Given the description of an element on the screen output the (x, y) to click on. 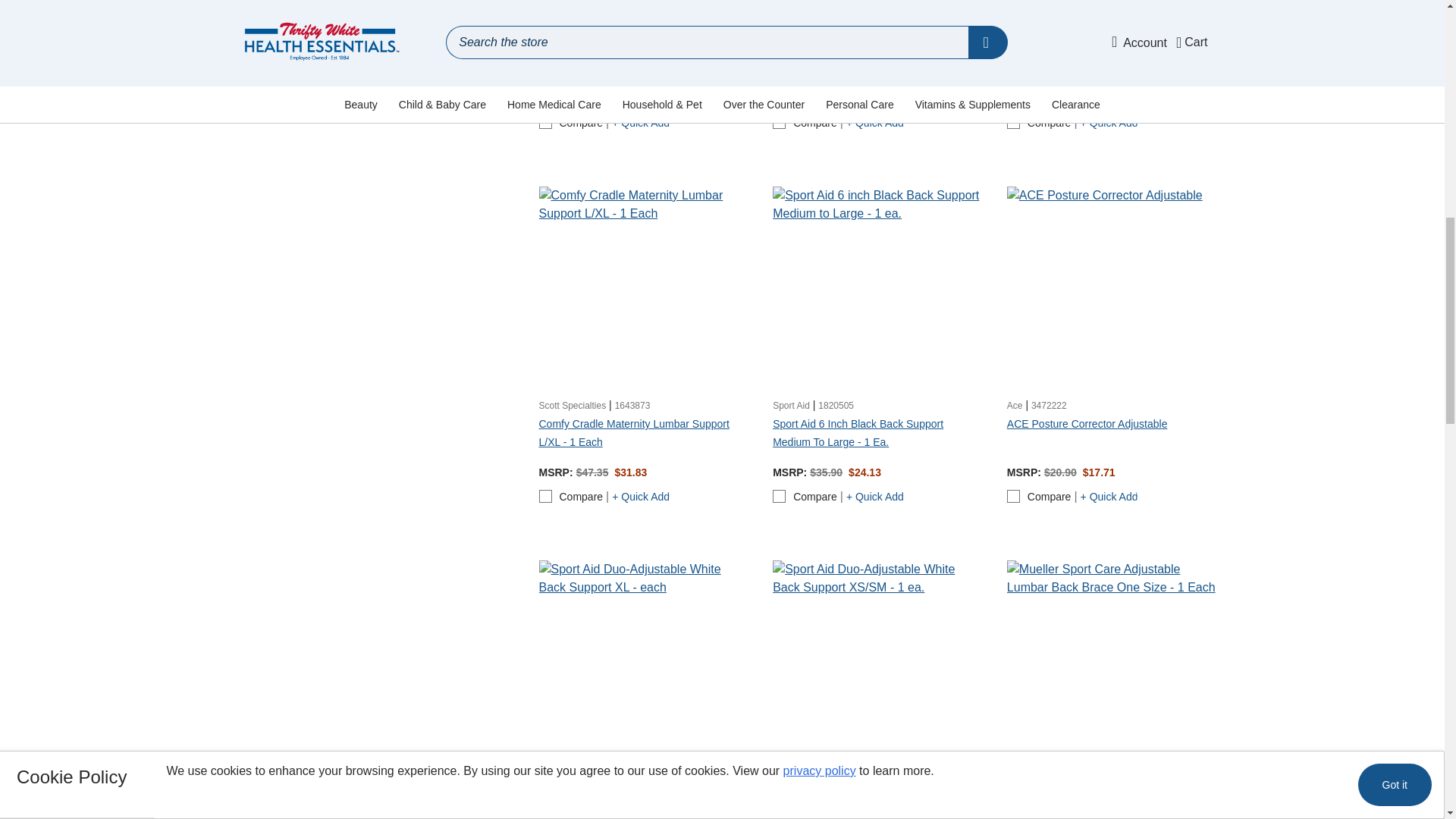
Ace Adjustable Back Brace, 207744, One Size (877, 11)
ACE Posture Corrector Adjustable (1112, 291)
Sport Aid 6 inch Black Back Support Medium to Large - 1 ea. (877, 291)
Sport Aid Duo-Adjustable White Back Support XL - each (643, 665)
Ace Work Belt with Removal Suspenders One Size (1112, 11)
